Given the description of an element on the screen output the (x, y) to click on. 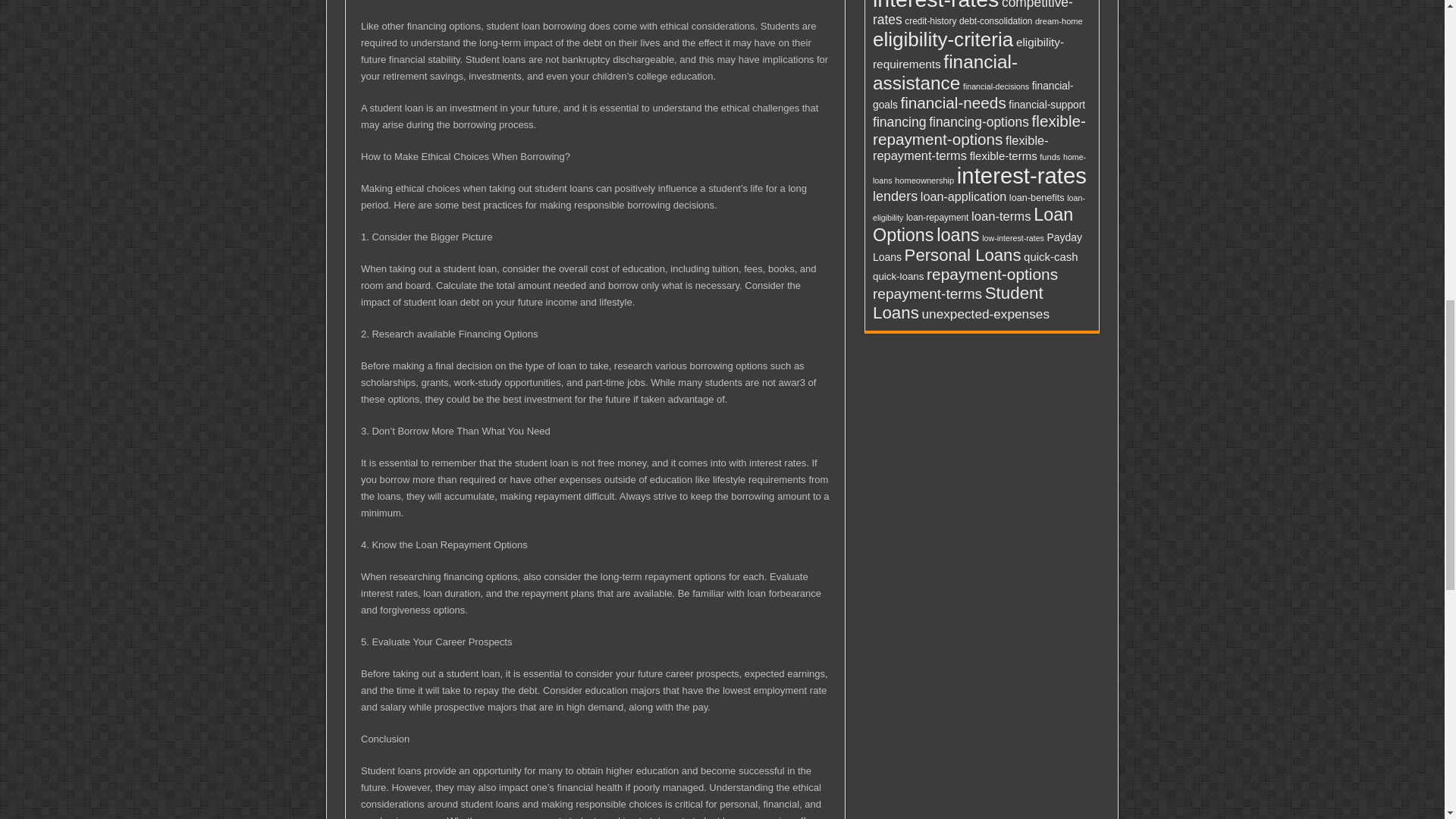
credit-history (930, 20)
competitive-rates (972, 13)
debt-consolidation (995, 20)
competitive-interest-rates (944, 5)
